Given the description of an element on the screen output the (x, y) to click on. 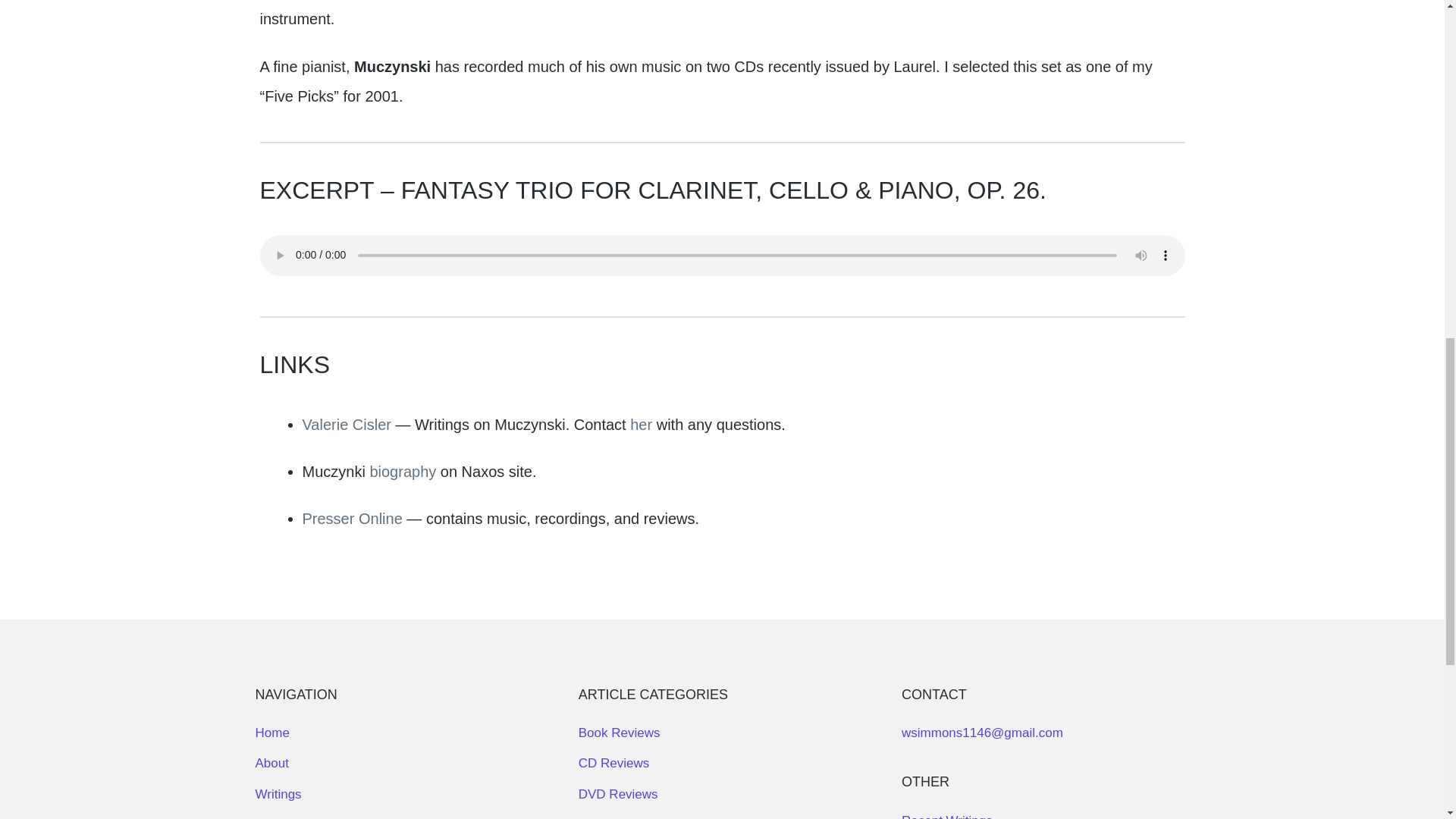
Presser Online  (353, 518)
Recent Writings (946, 816)
Writings (277, 794)
Books (271, 818)
Valerie Cisler (345, 424)
biography (402, 471)
Home (271, 732)
Book Reviews (619, 732)
her (641, 424)
About (271, 762)
